Given the description of an element on the screen output the (x, y) to click on. 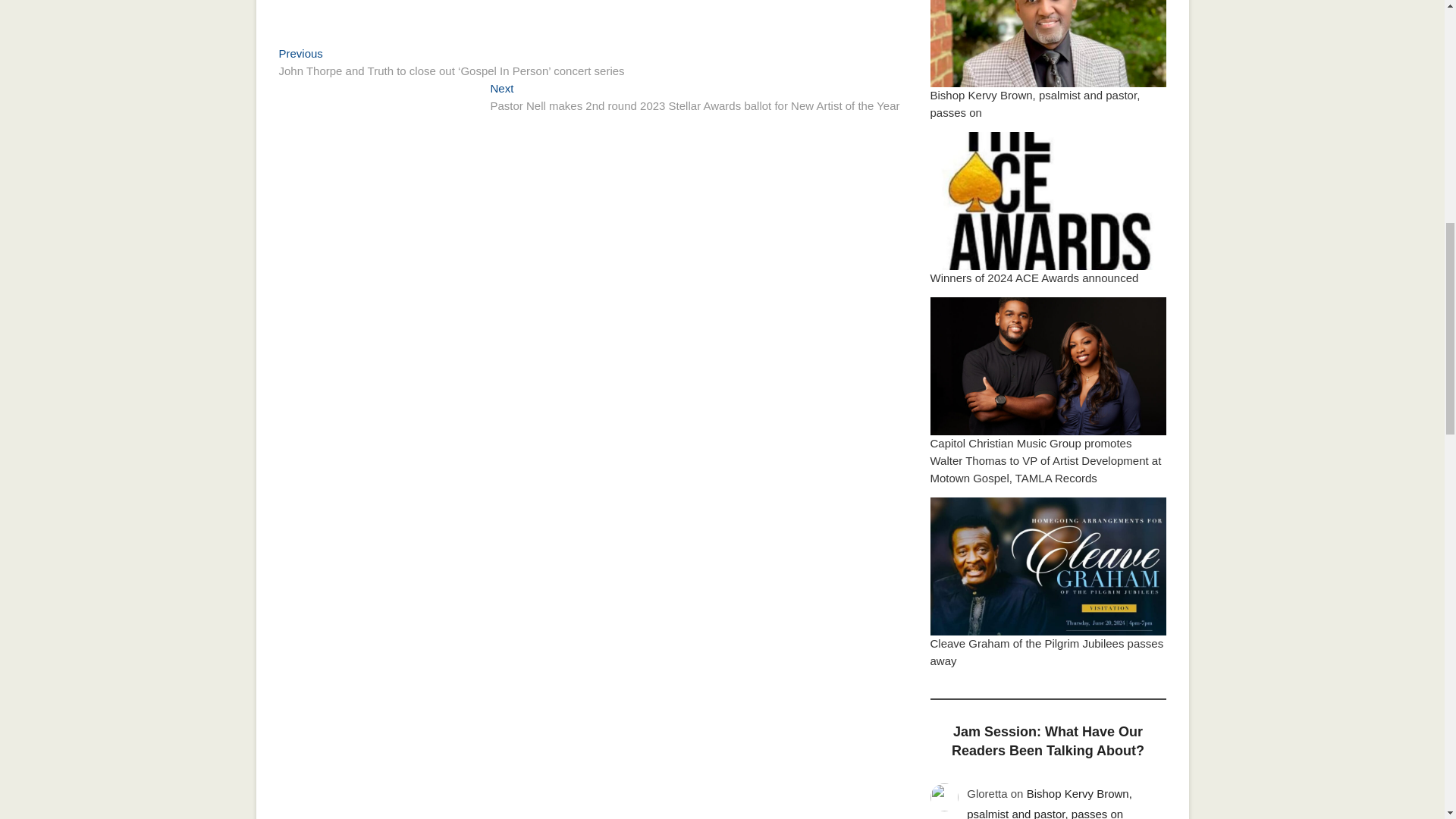
Winners of 2024 ACE Awards announced (1034, 277)
Bishop Kervy Brown, psalmist and pastor, passes on (1035, 103)
